Given the description of an element on the screen output the (x, y) to click on. 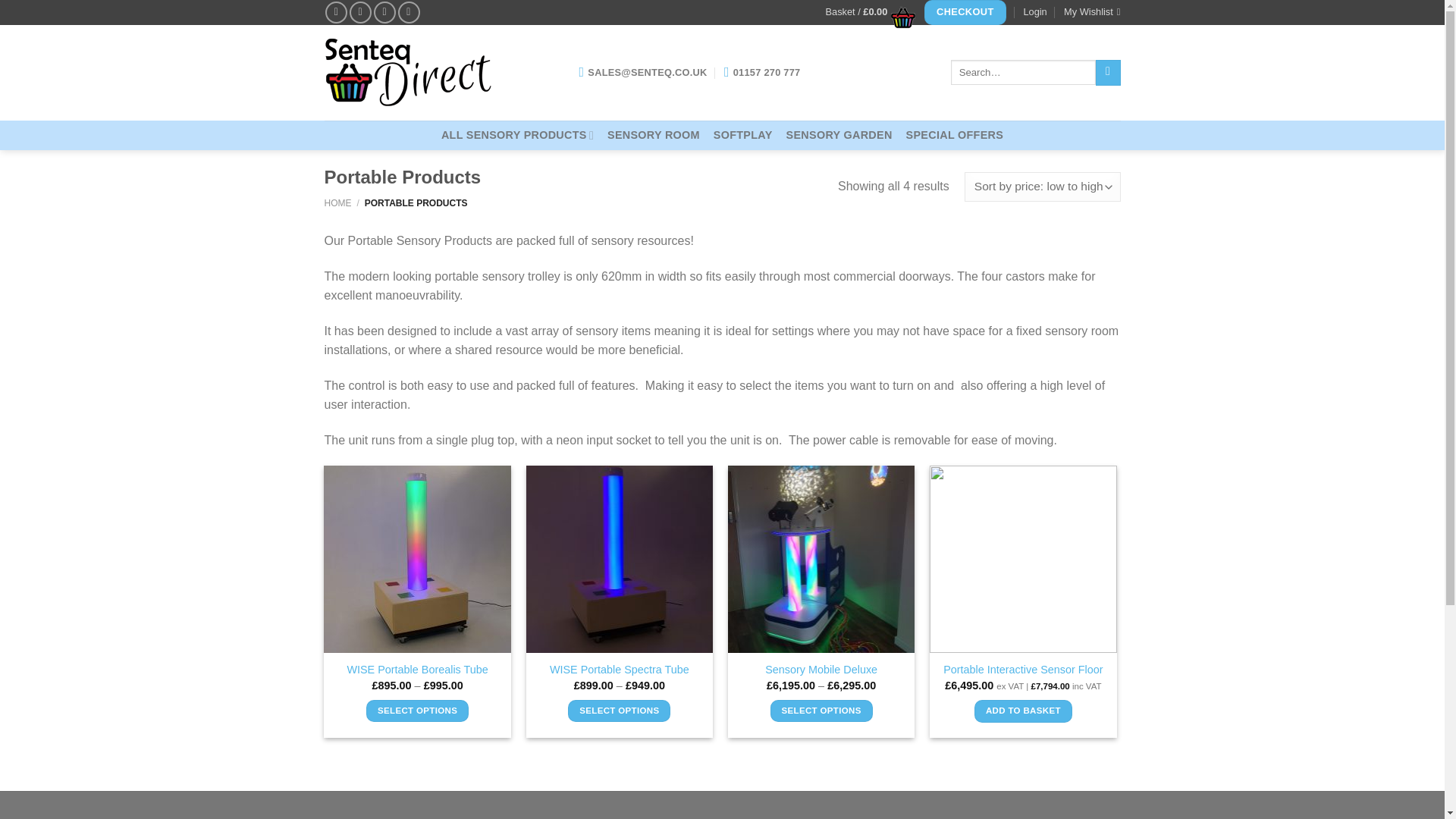
CHECKOUT (965, 12)
Follow on Instagram (360, 12)
Sensory Equipment and Products (517, 134)
01157 270 777 (761, 72)
My Wishlist (1091, 12)
Search (1108, 72)
01157 270 777 (761, 72)
Softplay Equipment (743, 135)
Follow on Facebook (335, 12)
Basket (866, 12)
Login (1034, 12)
Follow on Pinterest (408, 12)
Sensory Room Equipment (653, 135)
Follow on Twitter (385, 12)
